Given the description of an element on the screen output the (x, y) to click on. 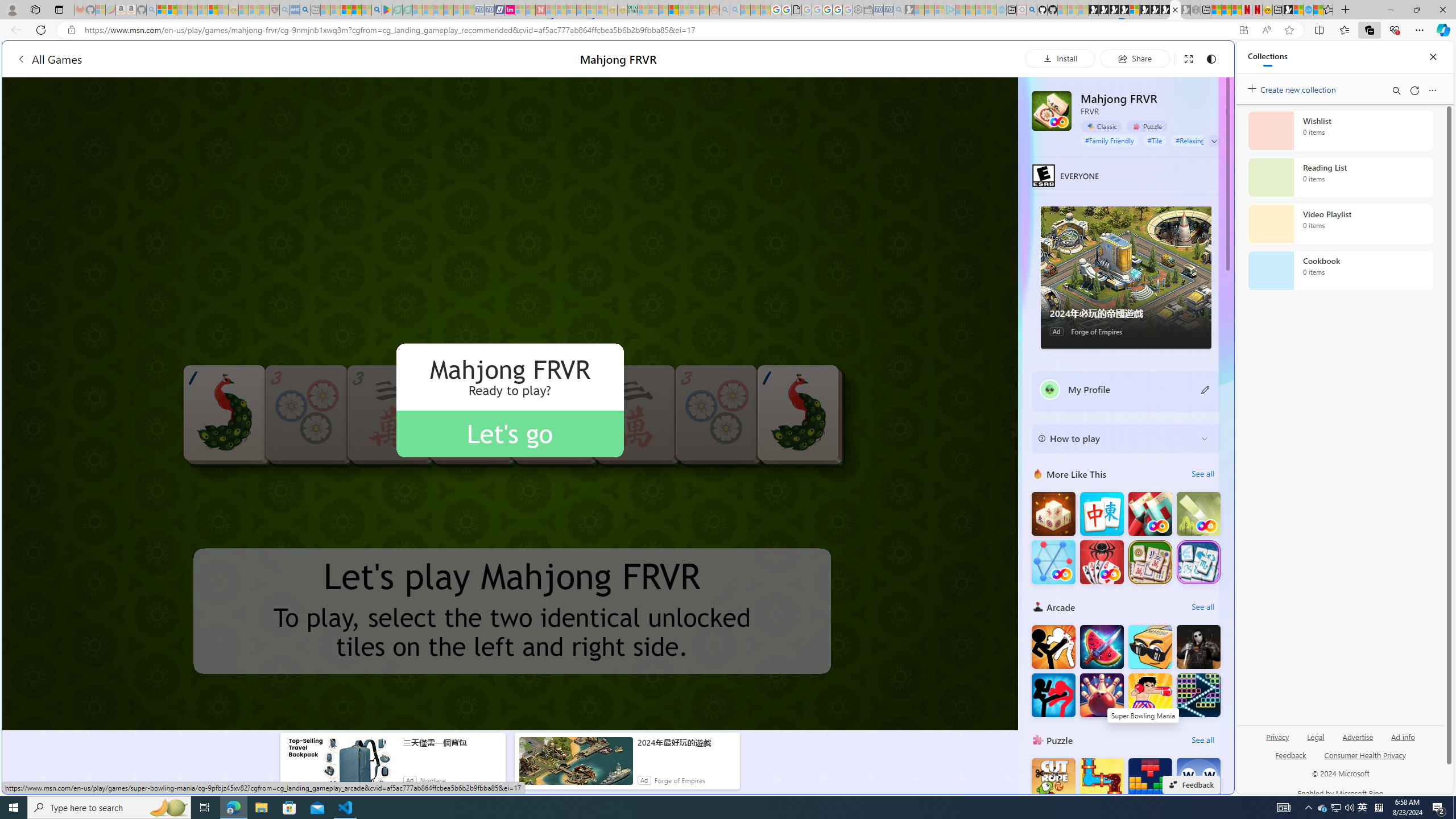
Consumer Health Privacy (1364, 759)
google_privacy_policy_zh-CN.pdf (796, 9)
Spider FRVR (1101, 562)
Cubes2048 (1149, 646)
Play Cave FRVR in your browser | Games from Microsoft Start (1113, 9)
Forge of Empires (679, 779)
Hunter Hitman (1198, 646)
